Given the description of an element on the screen output the (x, y) to click on. 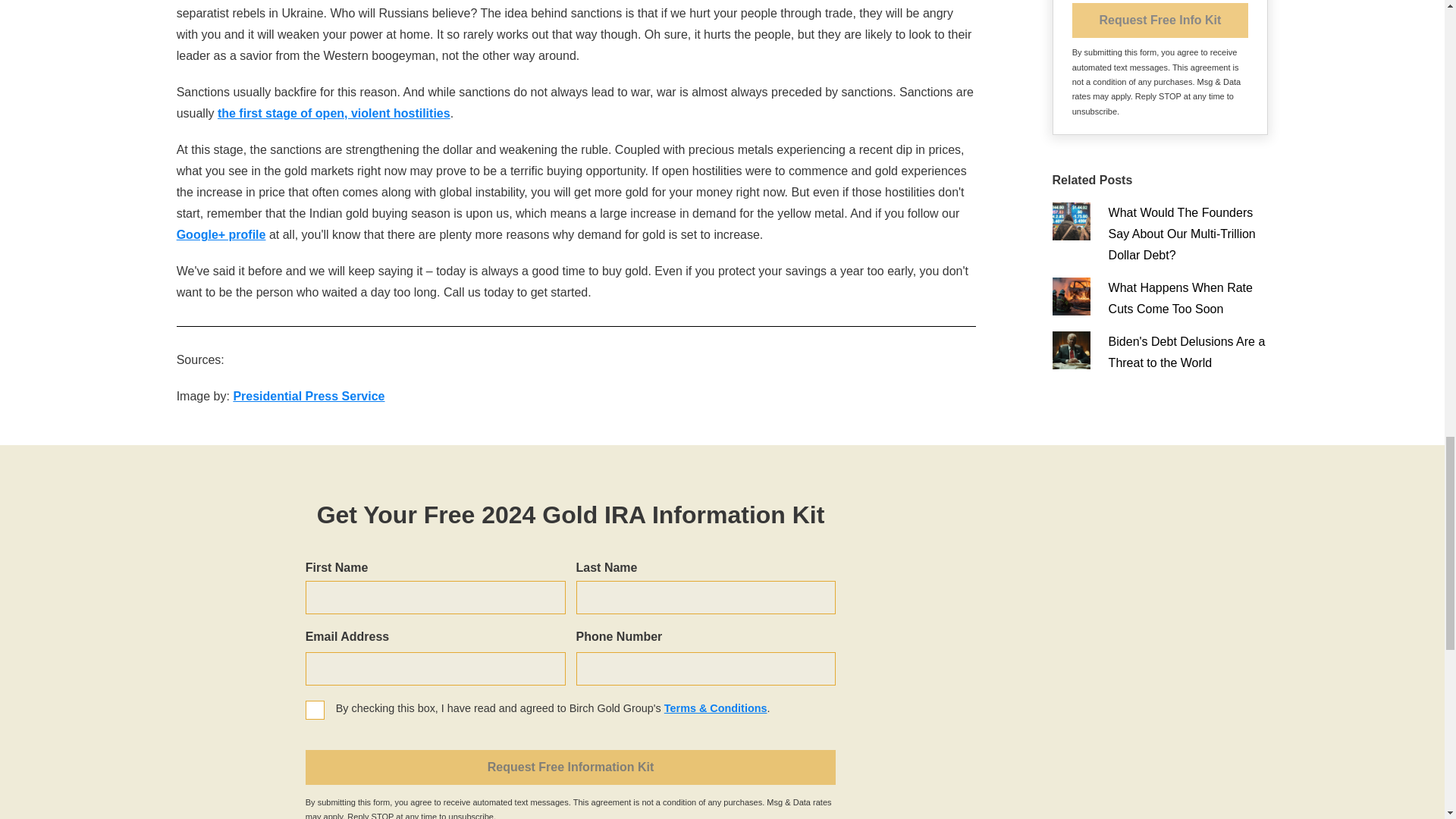
the first stage of open, violent hostilities (332, 113)
Request Free Information Kit (570, 767)
